Given the description of an element on the screen output the (x, y) to click on. 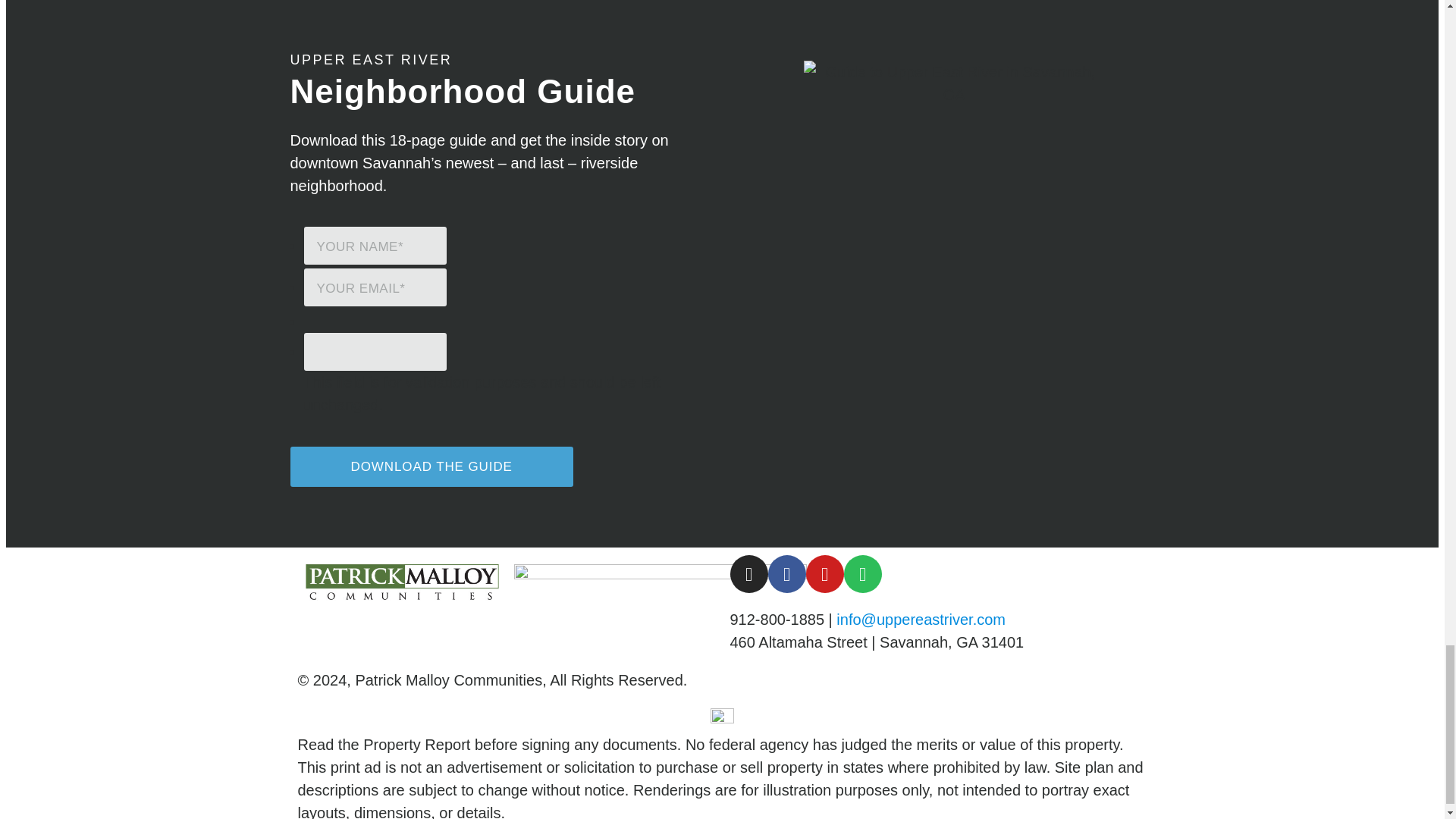
Download the Guide (430, 466)
